Given the description of an element on the screen output the (x, y) to click on. 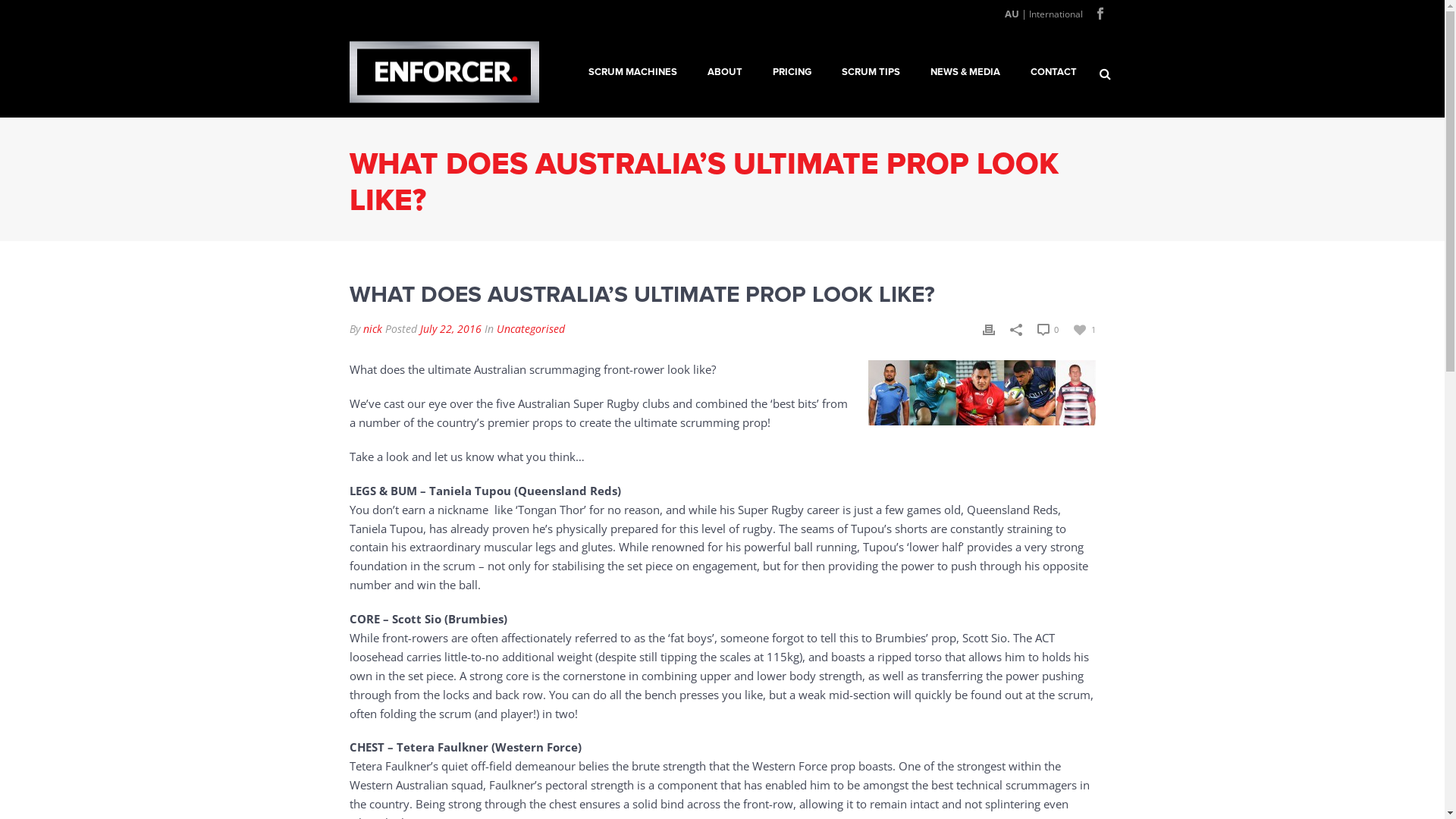
July 22, 2016 Element type: text (450, 328)
PRICING Element type: text (790, 71)
ABOUT Element type: text (723, 71)
Print Element type: hover (988, 328)
0 Element type: text (1047, 329)
International Element type: text (1055, 13)
Uncategorised Element type: text (529, 328)
facebook Element type: hover (1099, 14)
NEWS & MEDIA Element type: text (964, 71)
CONTACT Element type: text (1052, 71)
SCRUM MACHINES Element type: text (632, 71)
  1 Element type: text (1084, 328)
nick Element type: text (371, 328)
SCRUM TIPS Element type: text (870, 71)
